Given the description of an element on the screen output the (x, y) to click on. 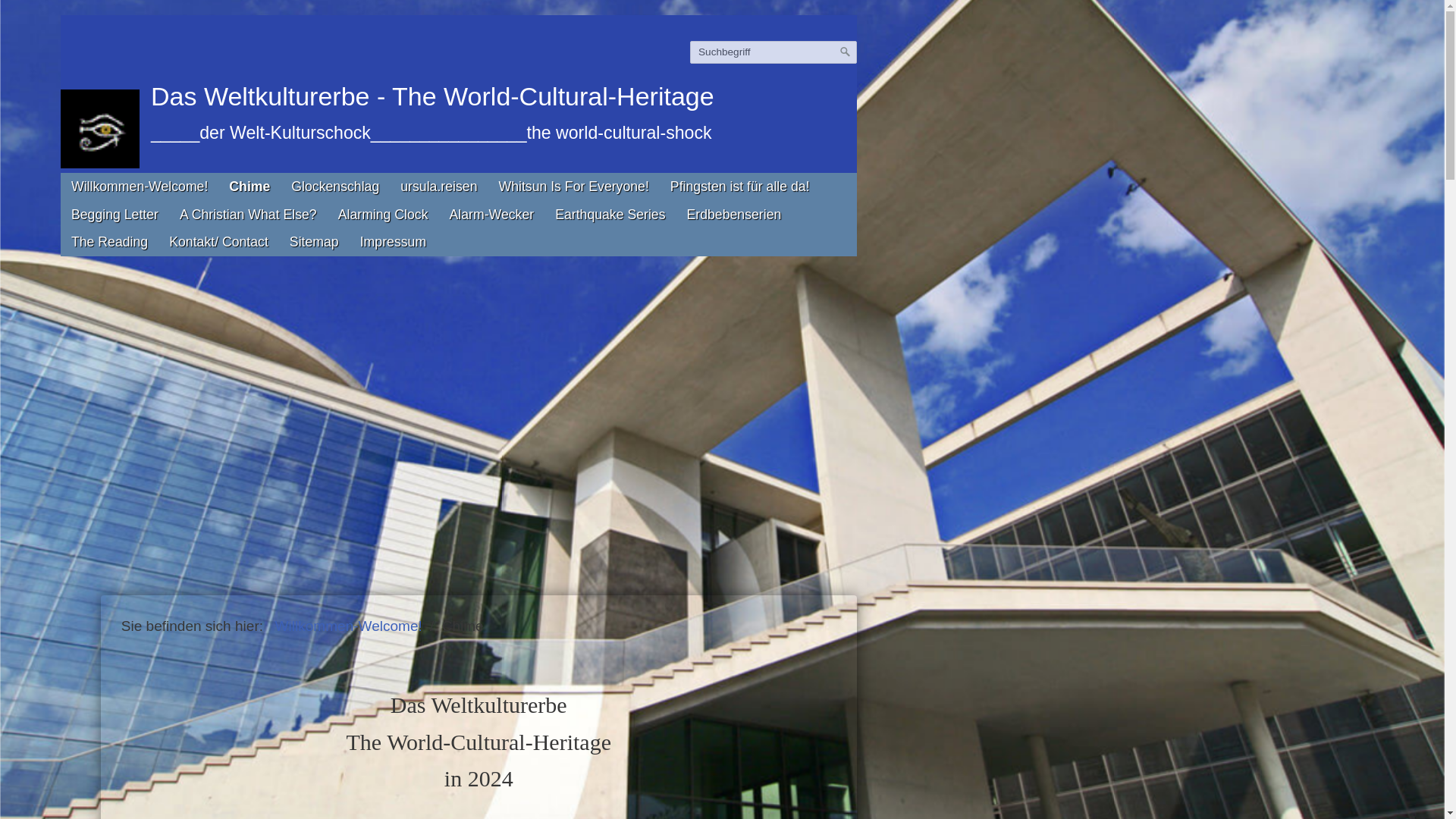
Alarming Clock (383, 214)
ursula.reisen (438, 186)
Willkommen-Welcome! (348, 625)
Willkommen-Welcome! (139, 186)
Chime (462, 625)
Glockenschlag (335, 186)
Whitsun Is For Everyone! (573, 186)
Sitemap (314, 242)
A Christian What Else? (247, 214)
Das Weltkulturerbe - The World-Cultural-Heritage (432, 95)
